Given the description of an element on the screen output the (x, y) to click on. 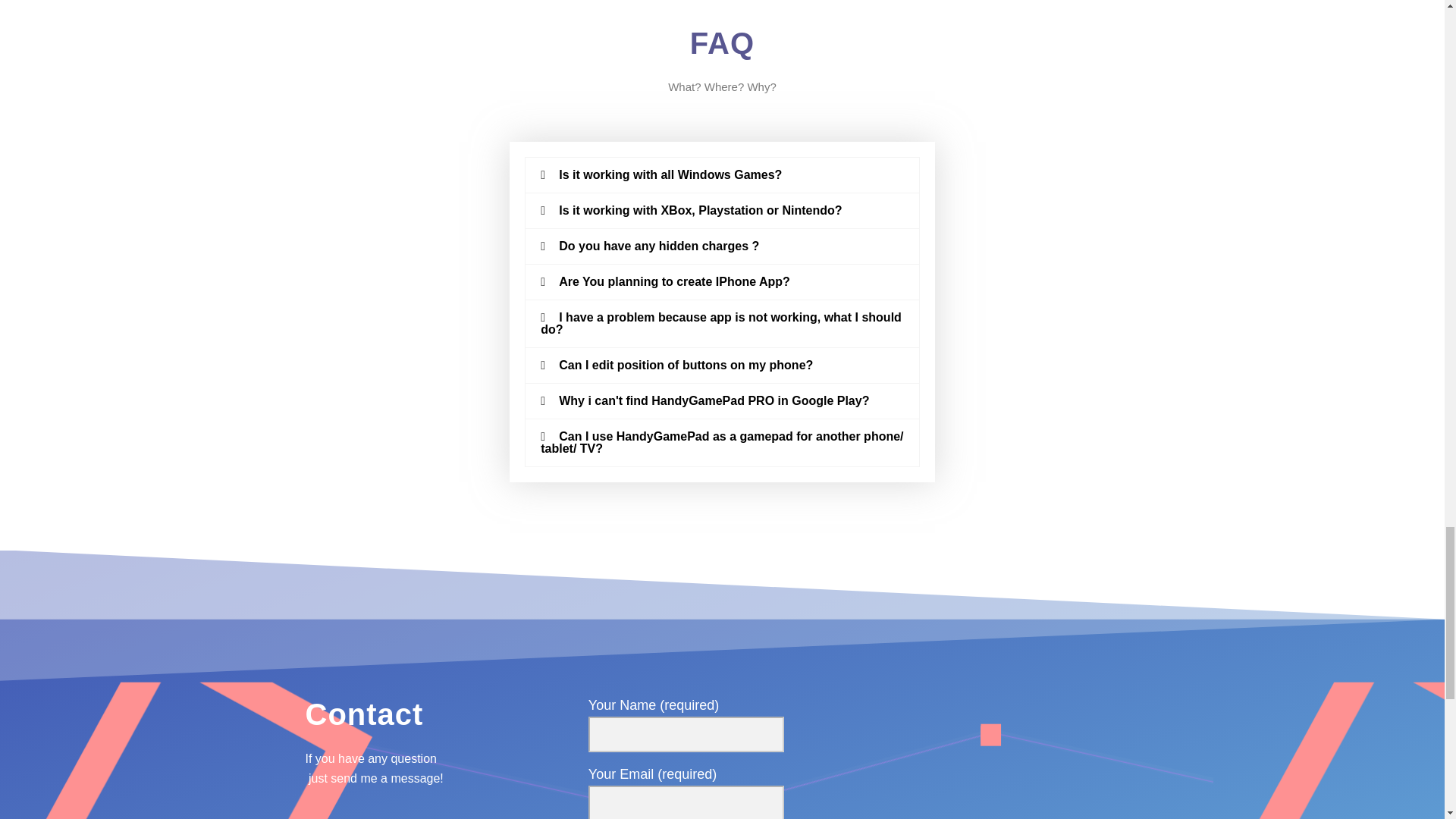
Are You planning to create IPhone App? (674, 281)
Is it working with XBox, Playstation or Nintendo? (700, 210)
Do you have any hidden charges ? (658, 245)
Is it working with all Windows Games? (670, 174)
Can I edit position of buttons on my phone? (685, 364)
Why i can't find HandyGamePad PRO in Google Play? (714, 400)
